Given the description of an element on the screen output the (x, y) to click on. 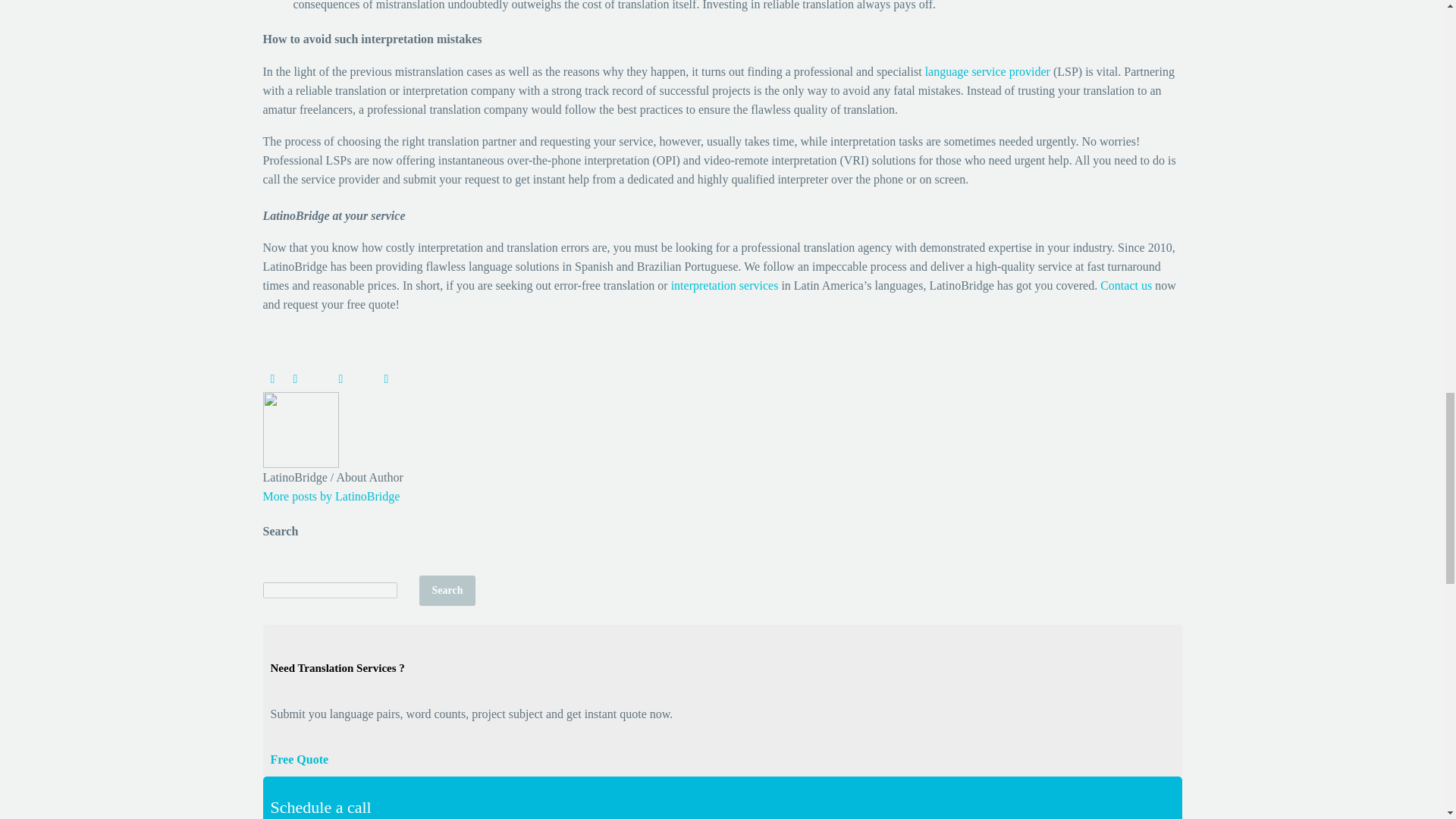
quotation (299, 758)
Twitter (295, 378)
Facebook (272, 378)
Tumblr (363, 378)
Google Plus (318, 378)
Pinterest (340, 378)
LinkedIn (386, 378)
StumbleUpon (408, 378)
